Given the description of an element on the screen output the (x, y) to click on. 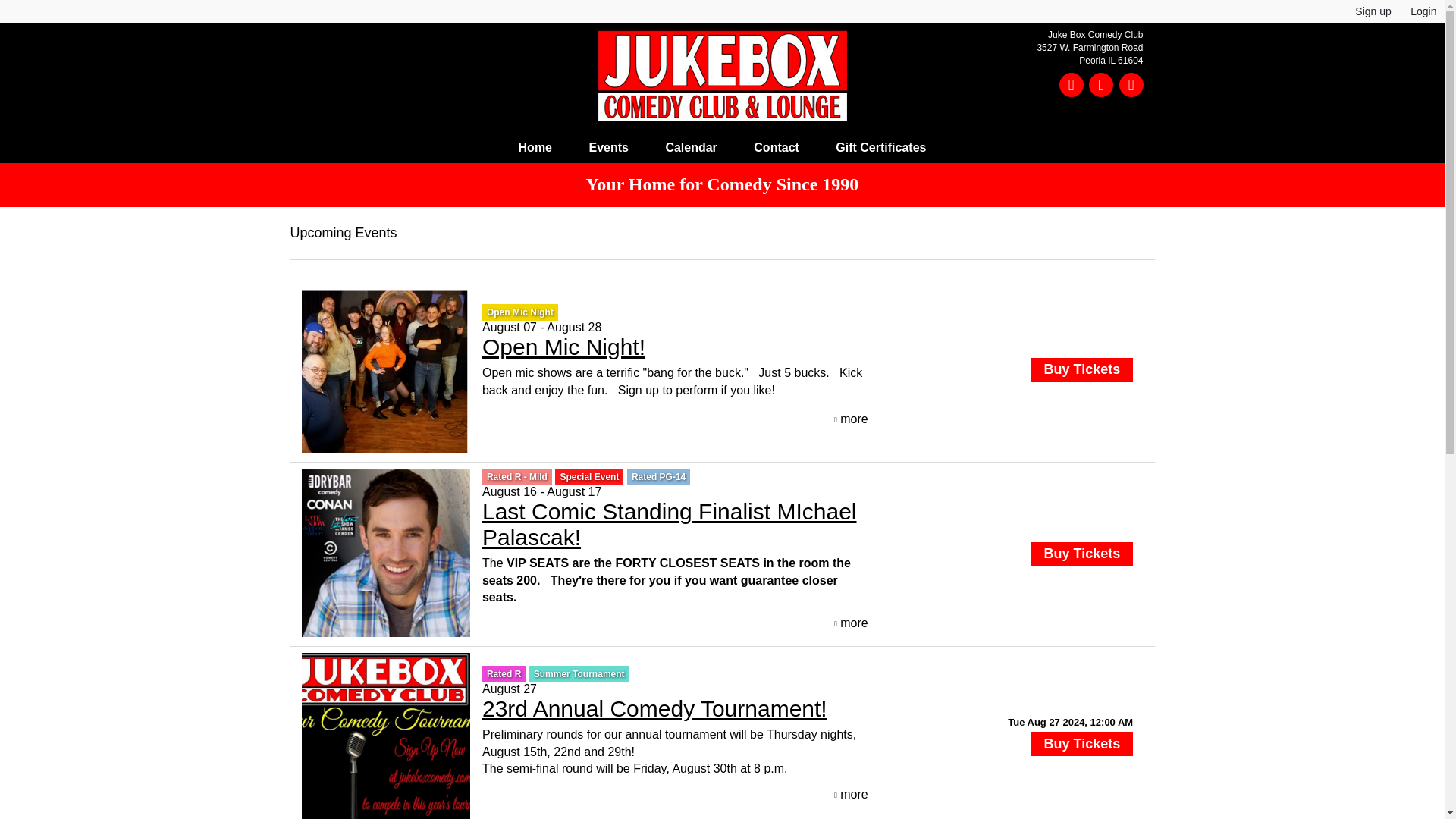
Gift Certificates (880, 147)
23rd Annual Comedy Tournament! (654, 708)
Buy Tickets (1081, 554)
Contact (775, 147)
Buy Tickets (1081, 369)
more (850, 622)
Buy Tickets (1081, 743)
more (850, 418)
Events (608, 147)
Sign up (1373, 10)
more (850, 794)
Calendar (690, 147)
Home (535, 147)
Open Mic Night! (563, 346)
Last Comic Standing Finalist MIchael Palascak! (669, 523)
